Given the description of an element on the screen output the (x, y) to click on. 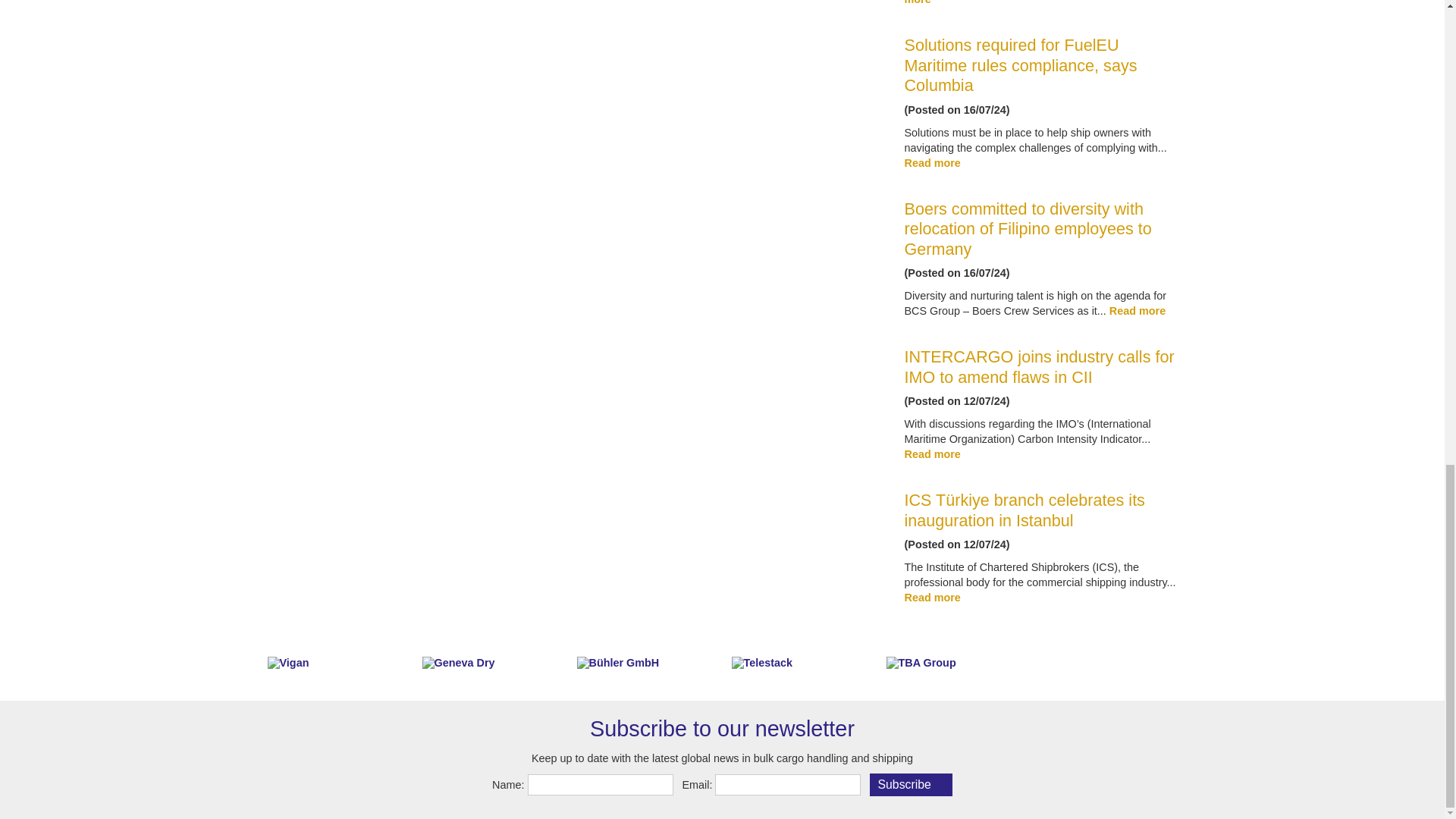
Subscribe (910, 784)
